Given the description of an element on the screen output the (x, y) to click on. 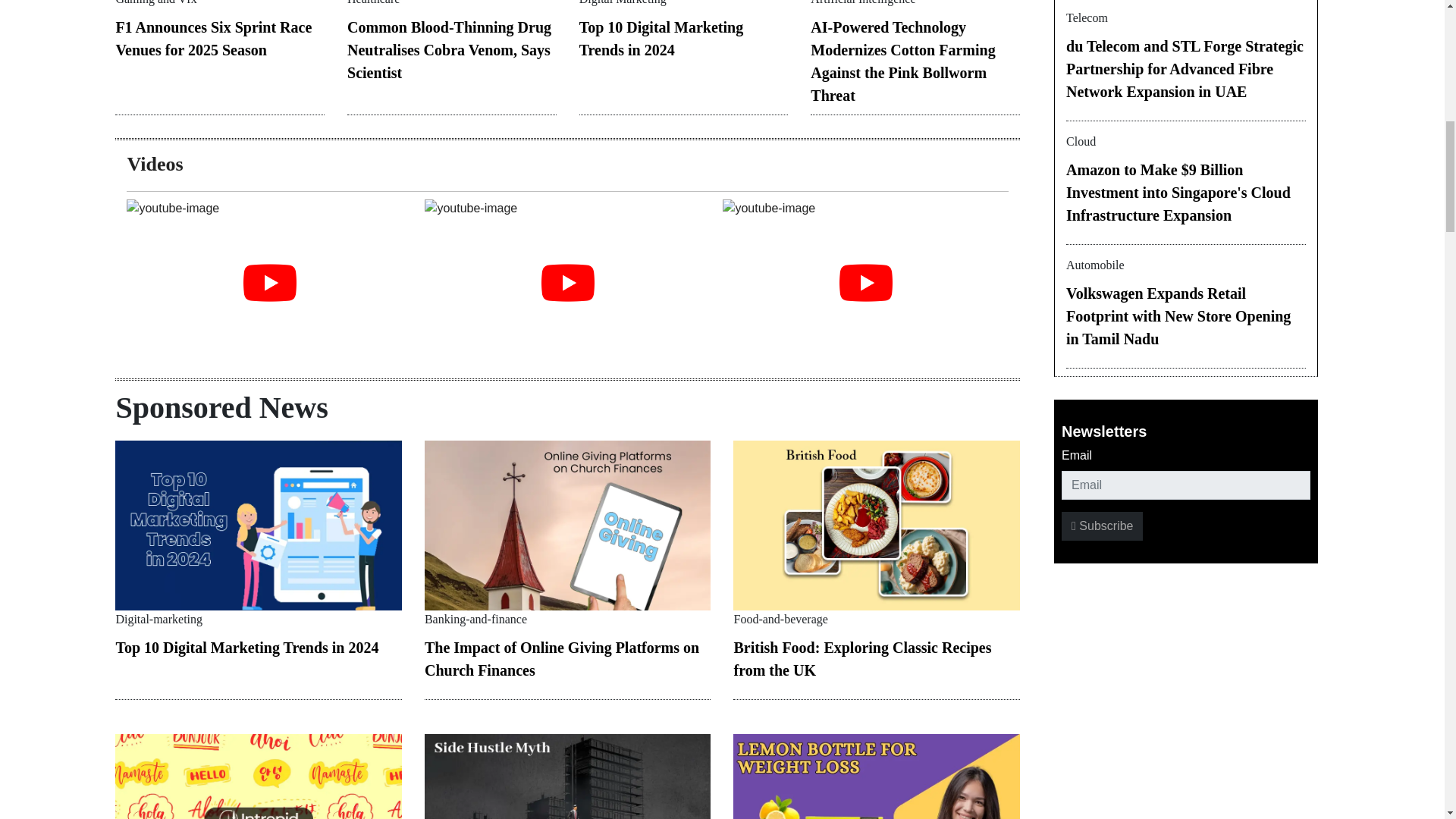
The Impact of Online Giving Platforms on Church Finances (561, 658)
British Food: Exploring Classic Recipes from the UK (862, 658)
Top 10 Digital Marketing Trends in 2024 (246, 647)
